Given the description of an element on the screen output the (x, y) to click on. 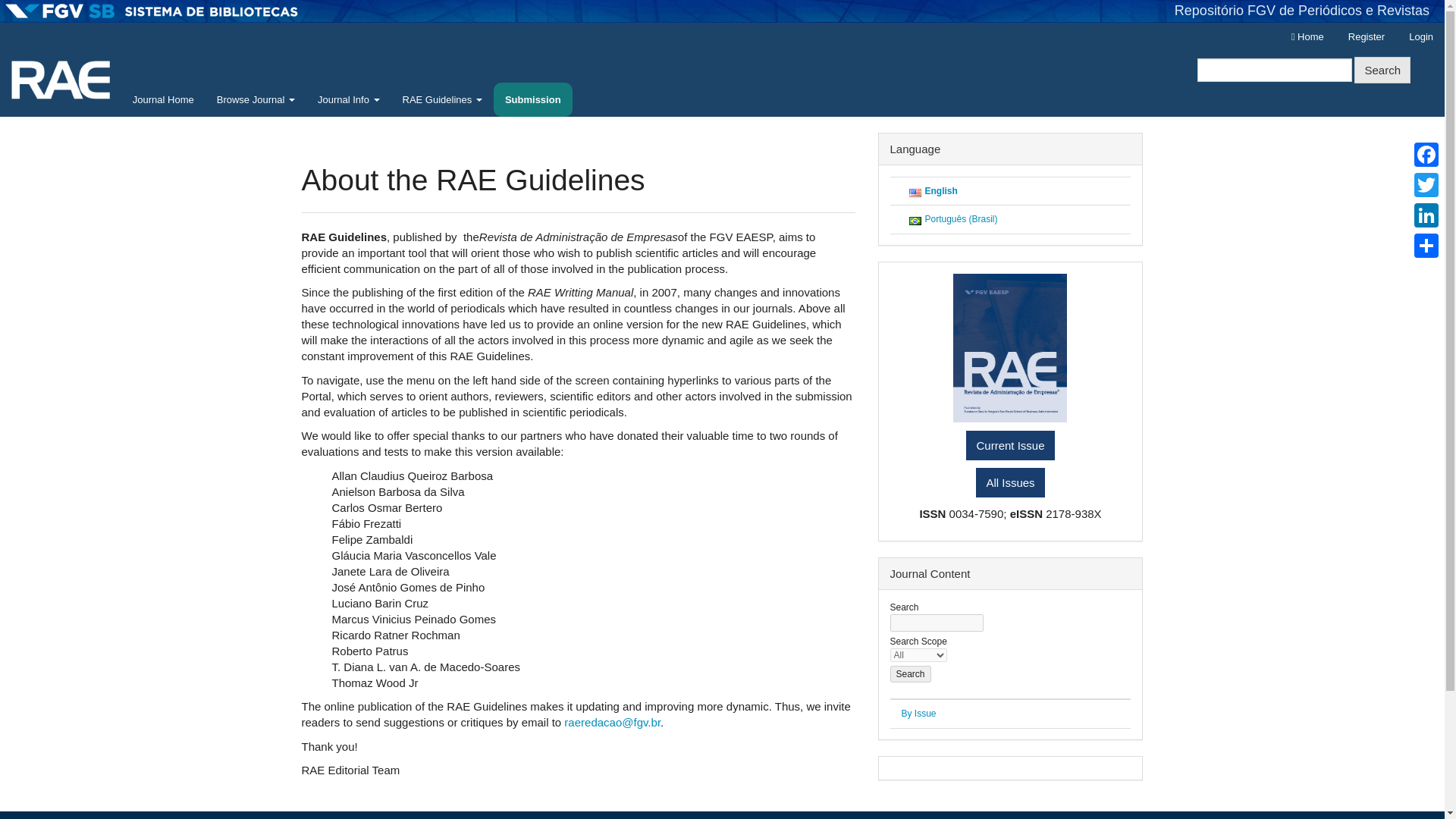
LinkedIn (1425, 214)
Share (1425, 245)
Journal Info (348, 99)
Search (1382, 69)
  English (941, 190)
Journal Home (162, 99)
Logomarca da FGV (152, 11)
RAE Guidelines (442, 99)
Facebook (1425, 154)
Register (1366, 36)
Search (910, 674)
Submission (532, 99)
Browse Journal (255, 99)
Twitter (1425, 184)
Home (1307, 36)
